Given the description of an element on the screen output the (x, y) to click on. 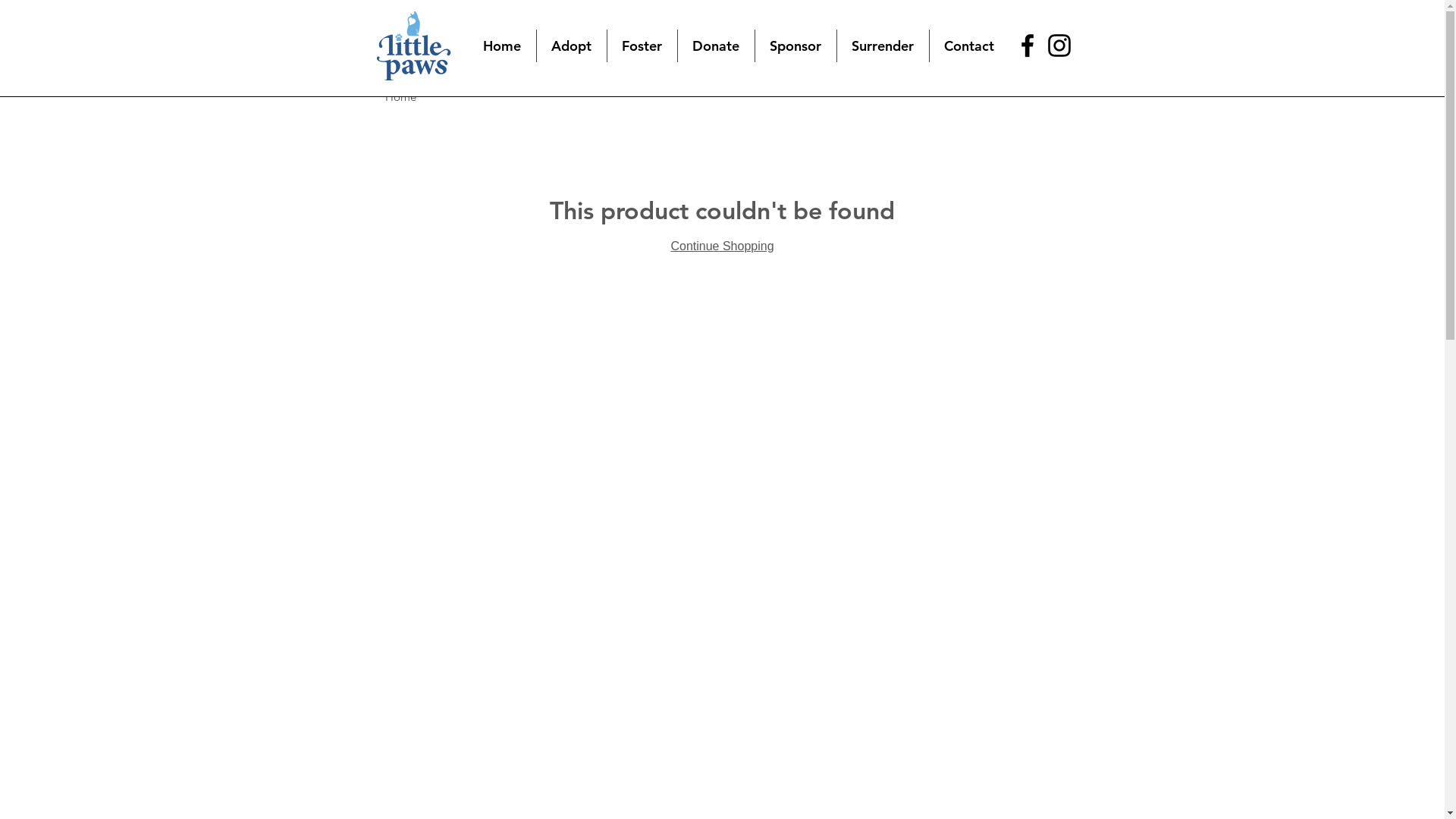
Continue Shopping Element type: text (721, 245)
Home Element type: text (400, 96)
Contact Element type: text (968, 45)
Foster Element type: text (641, 45)
Donate Element type: text (715, 45)
Adopt Element type: text (571, 45)
Surrender Element type: text (882, 45)
Home Element type: text (502, 45)
Sponsor Element type: text (795, 45)
